Given the description of an element on the screen output the (x, y) to click on. 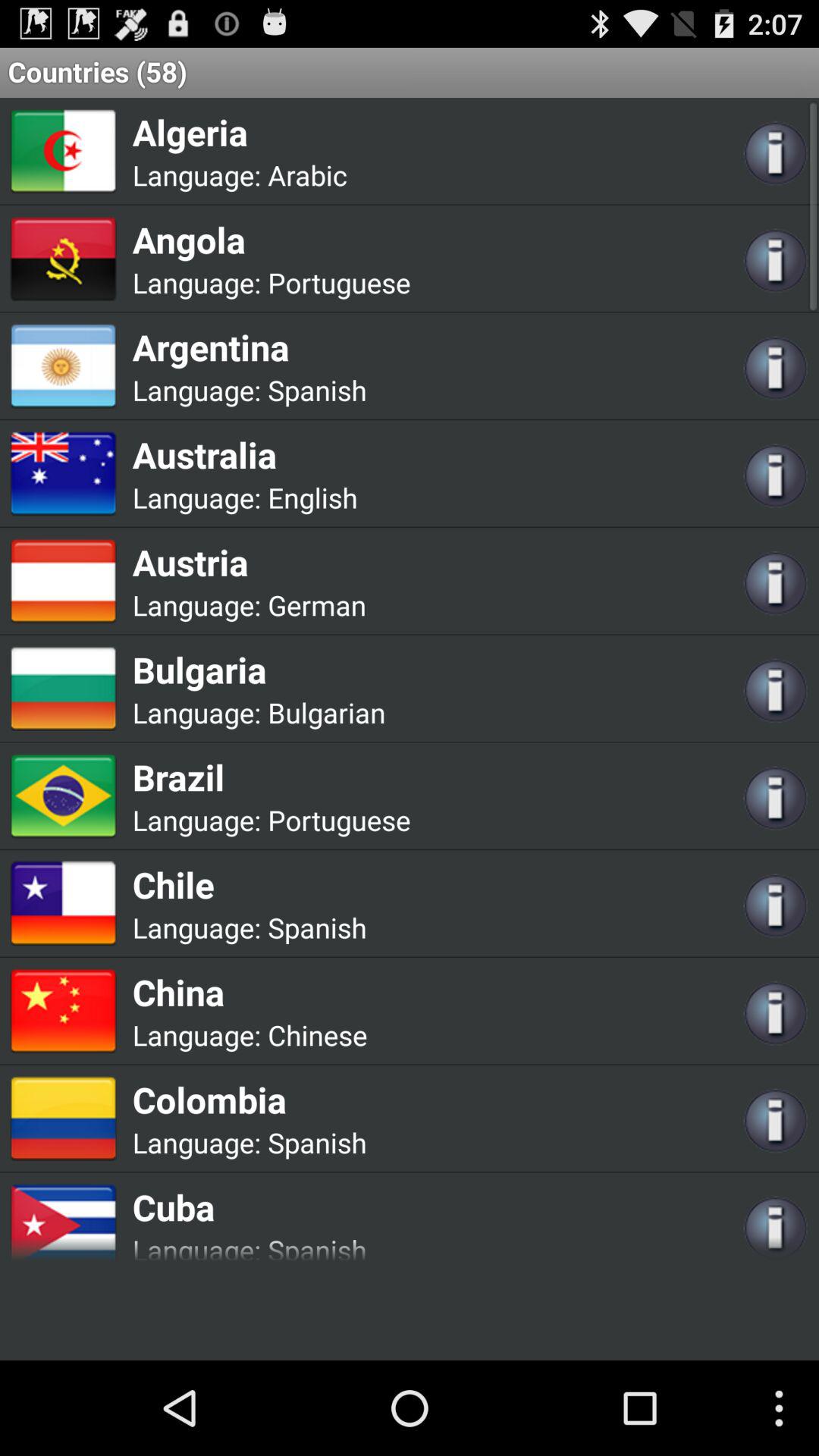
tap app below the language: (271, 239)
